Given the description of an element on the screen output the (x, y) to click on. 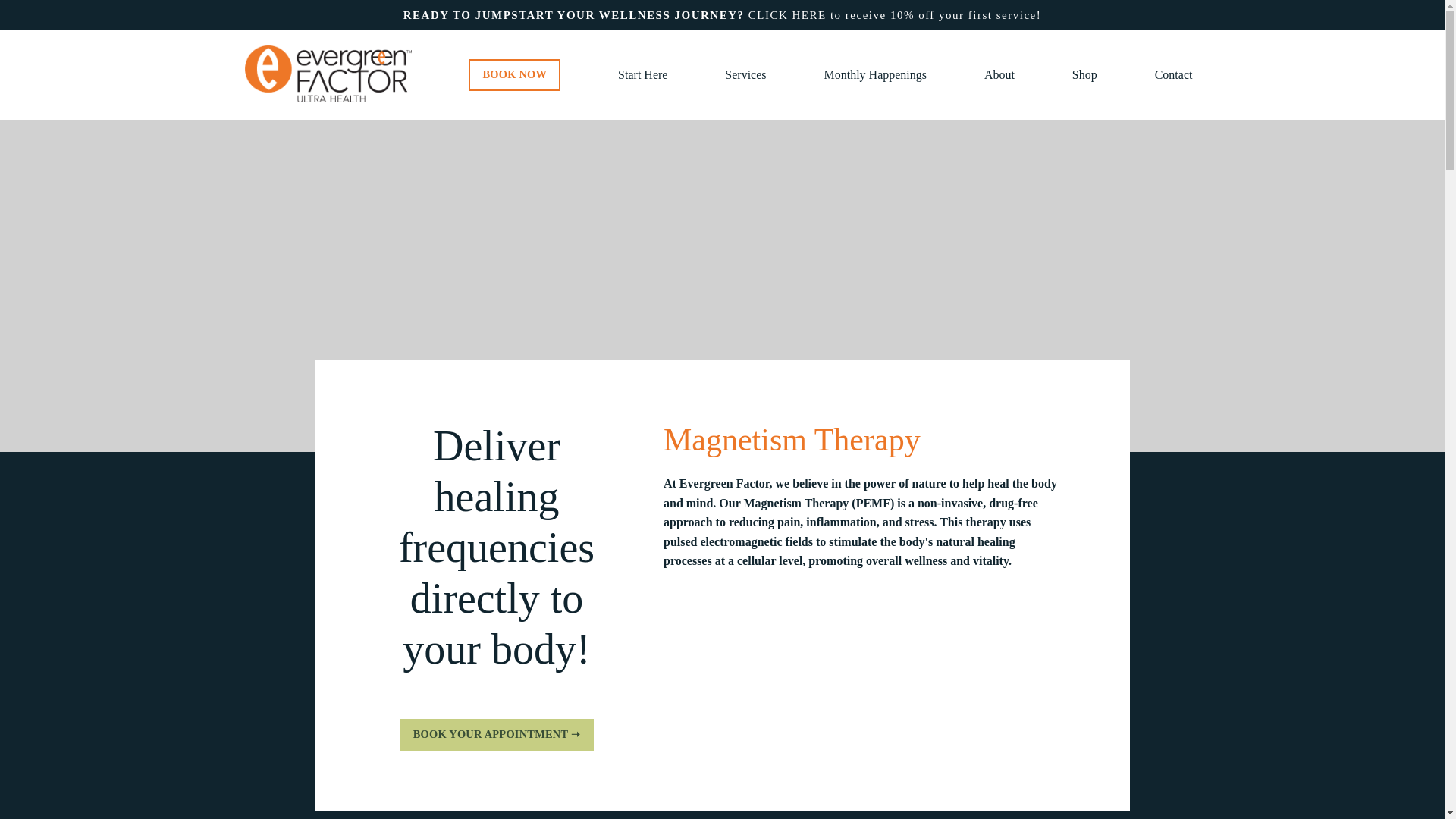
BOOK NOW (514, 74)
Shop (1084, 75)
Monthly Happenings (875, 75)
Services (745, 75)
Contact (1173, 75)
Start Here (641, 75)
About (999, 75)
